Given the description of an element on the screen output the (x, y) to click on. 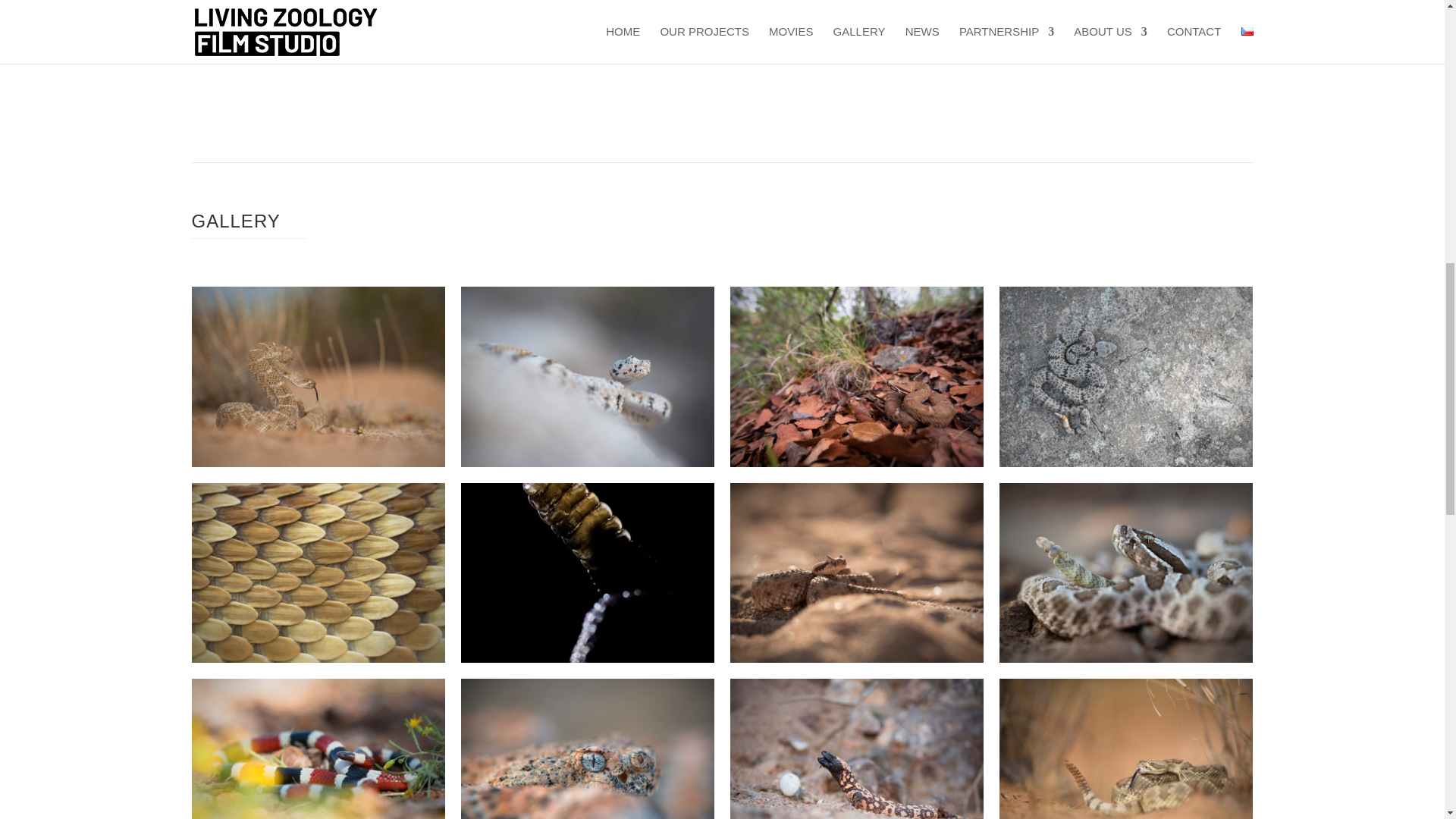
Arizona2 (587, 466)
Arizona5 (317, 662)
Arizona3 (857, 466)
Arizona8 (1125, 662)
Arizona7 (857, 662)
Arizona1 (317, 466)
Arizona6 (587, 662)
Arizona4 (1125, 466)
